Given the description of an element on the screen output the (x, y) to click on. 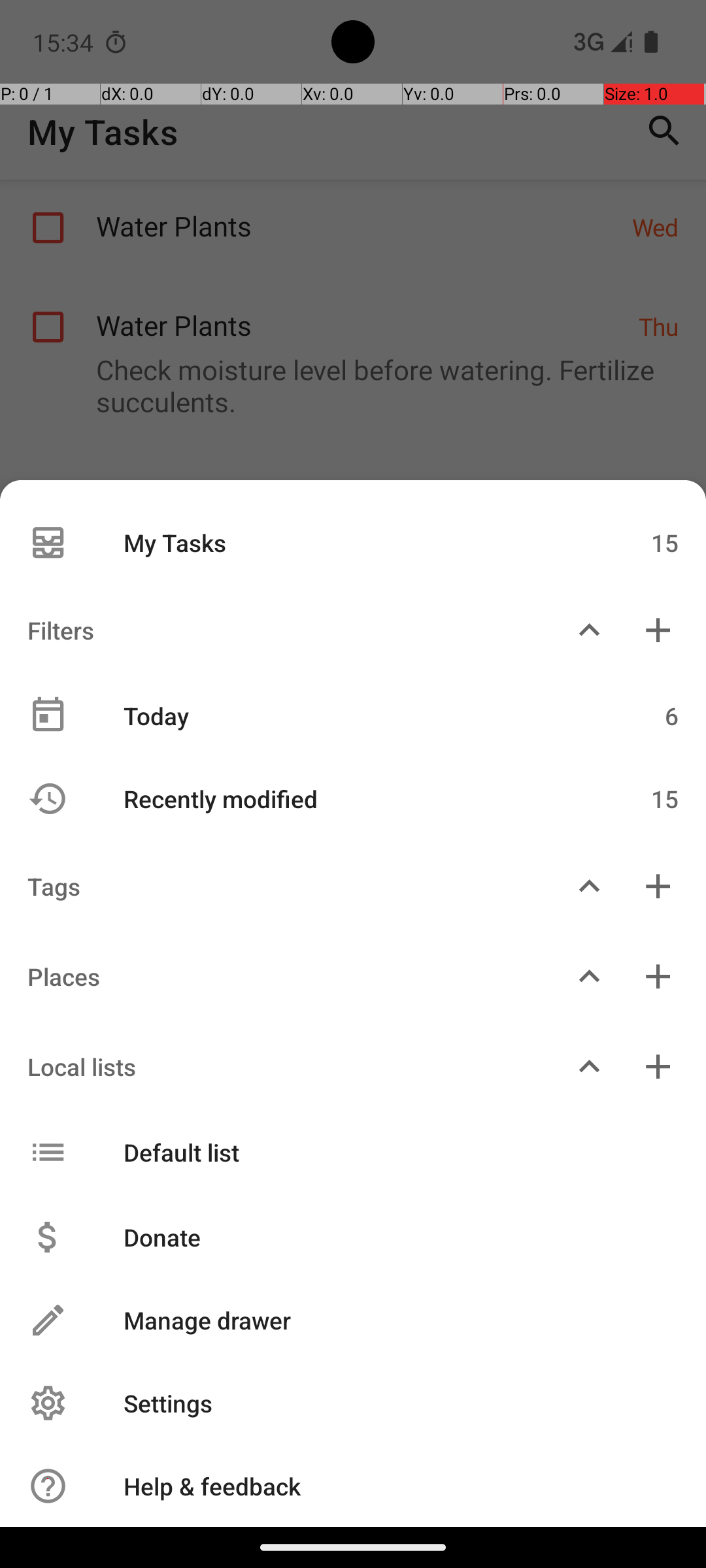
Filters Element type: android.widget.TextView (277, 630)
Recently modified Element type: android.widget.CheckedTextView (344, 798)
Places Element type: android.widget.TextView (277, 976)
Manage drawer Element type: android.widget.TextView (387, 1319)
